Given the description of an element on the screen output the (x, y) to click on. 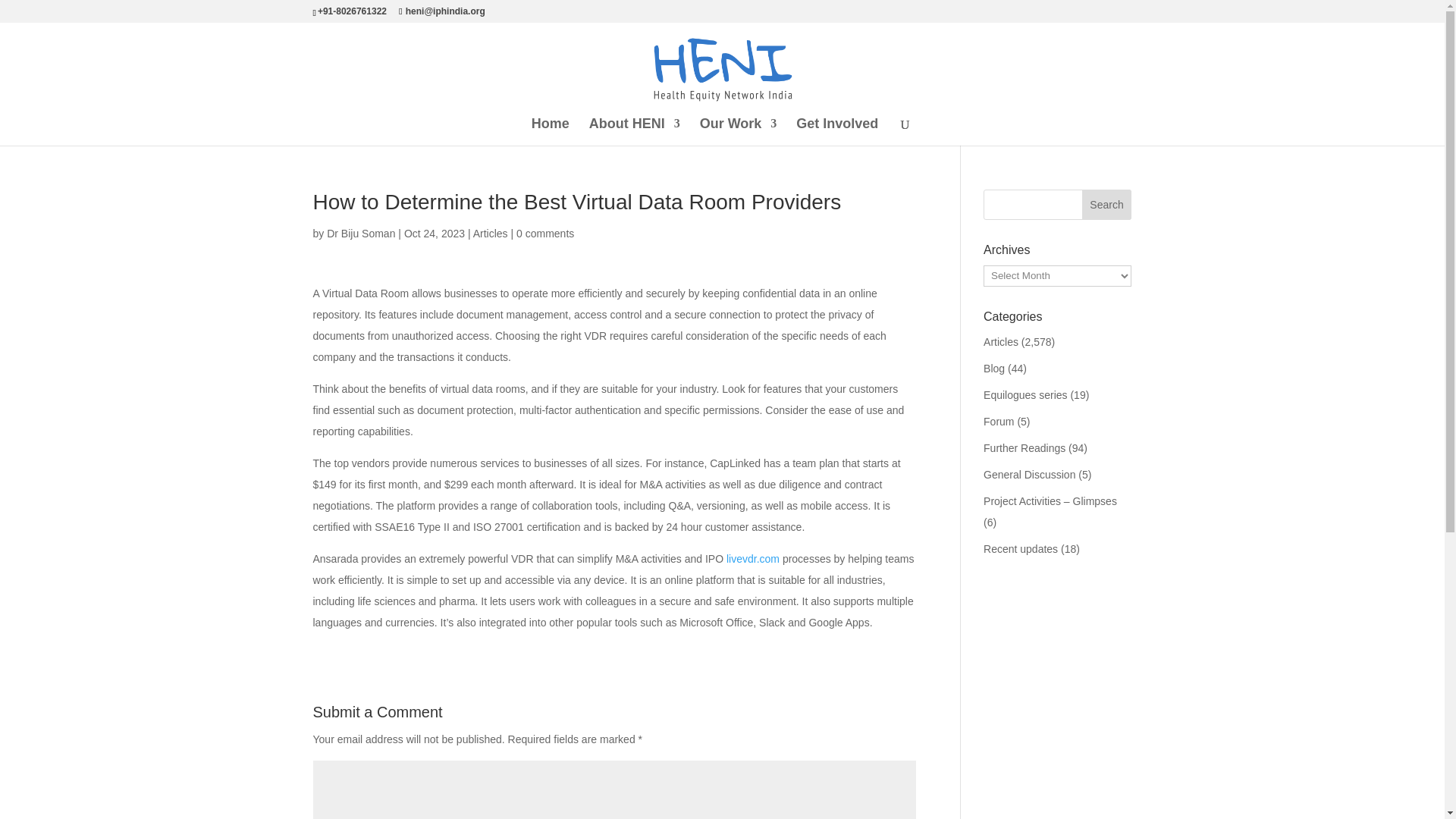
0 comments (544, 233)
Search (1106, 204)
General Discussion (1029, 474)
Further Readings (1024, 448)
Dr Biju Soman (360, 233)
livevdr.com (752, 558)
Get Involved (836, 131)
Articles (1000, 341)
Home (550, 131)
Recent updates (1021, 548)
Search (1106, 204)
Posts by Dr Biju Soman (360, 233)
Our Work (738, 131)
Forum (998, 421)
Blog (994, 368)
